Given the description of an element on the screen output the (x, y) to click on. 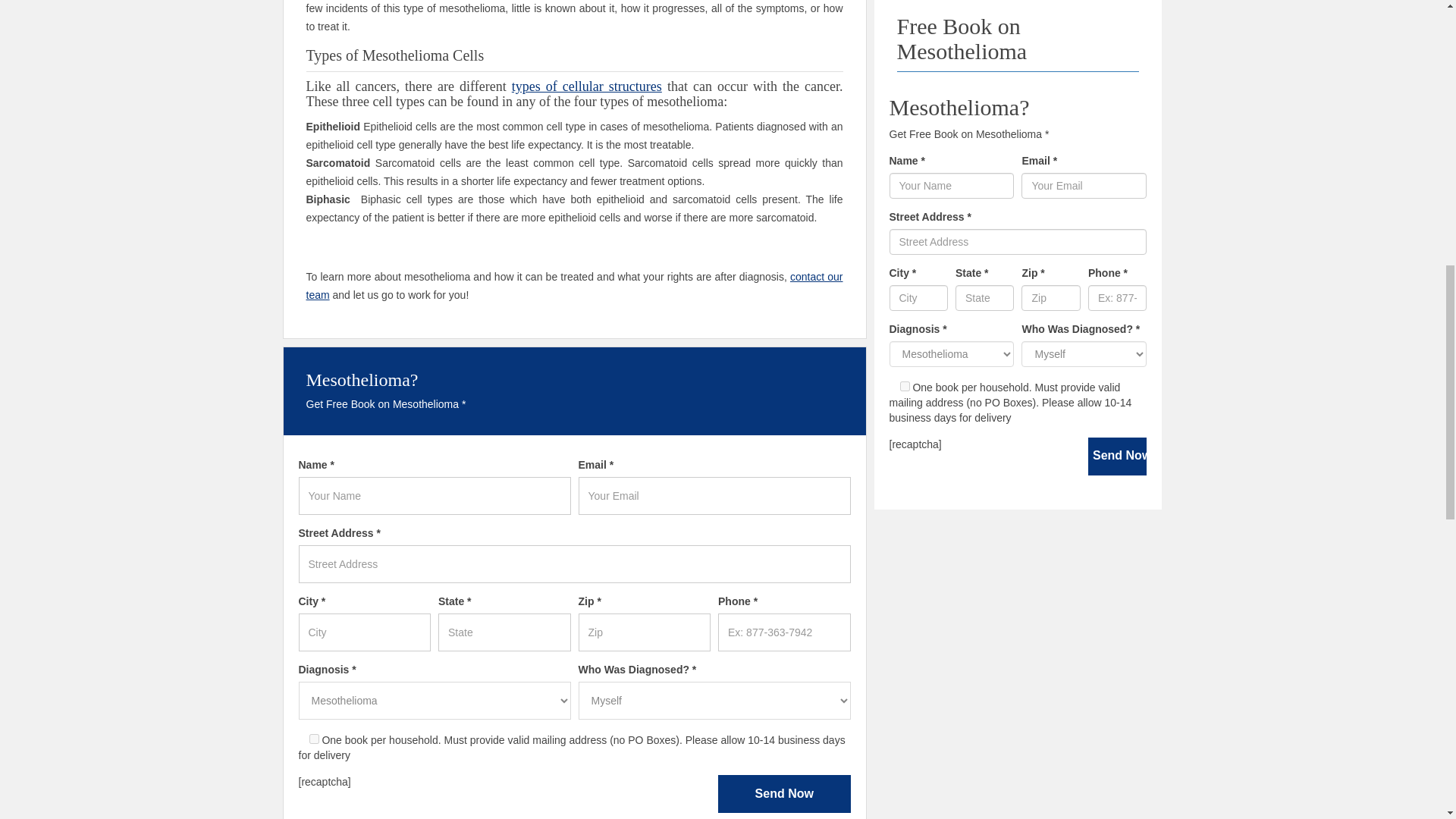
1 (313, 738)
Send Now (783, 793)
